Given the description of an element on the screen output the (x, y) to click on. 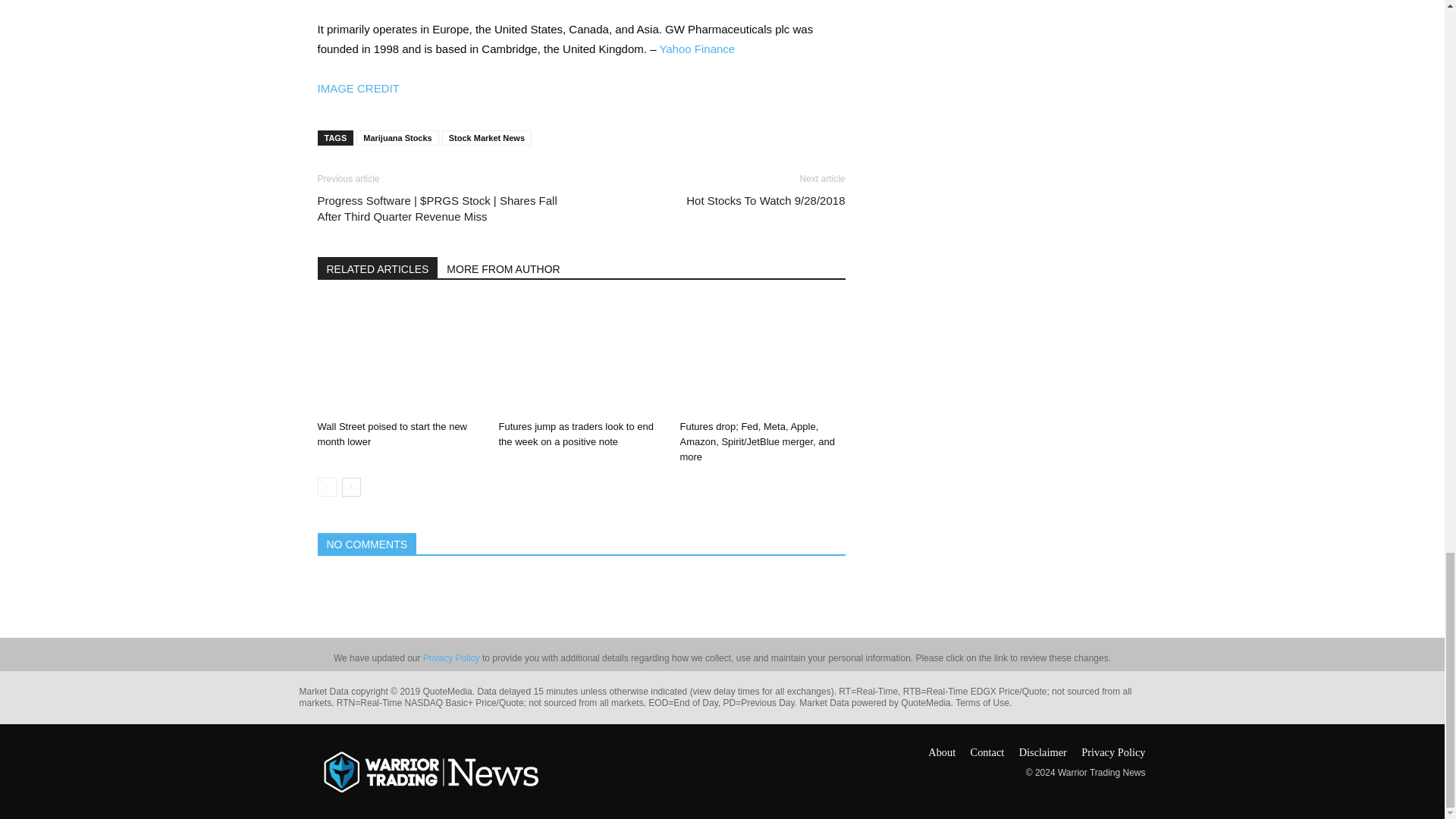
Wall Street poised to start the new month lower (392, 433)
Wall Street poised to start the new month lower (399, 357)
